Given the description of an element on the screen output the (x, y) to click on. 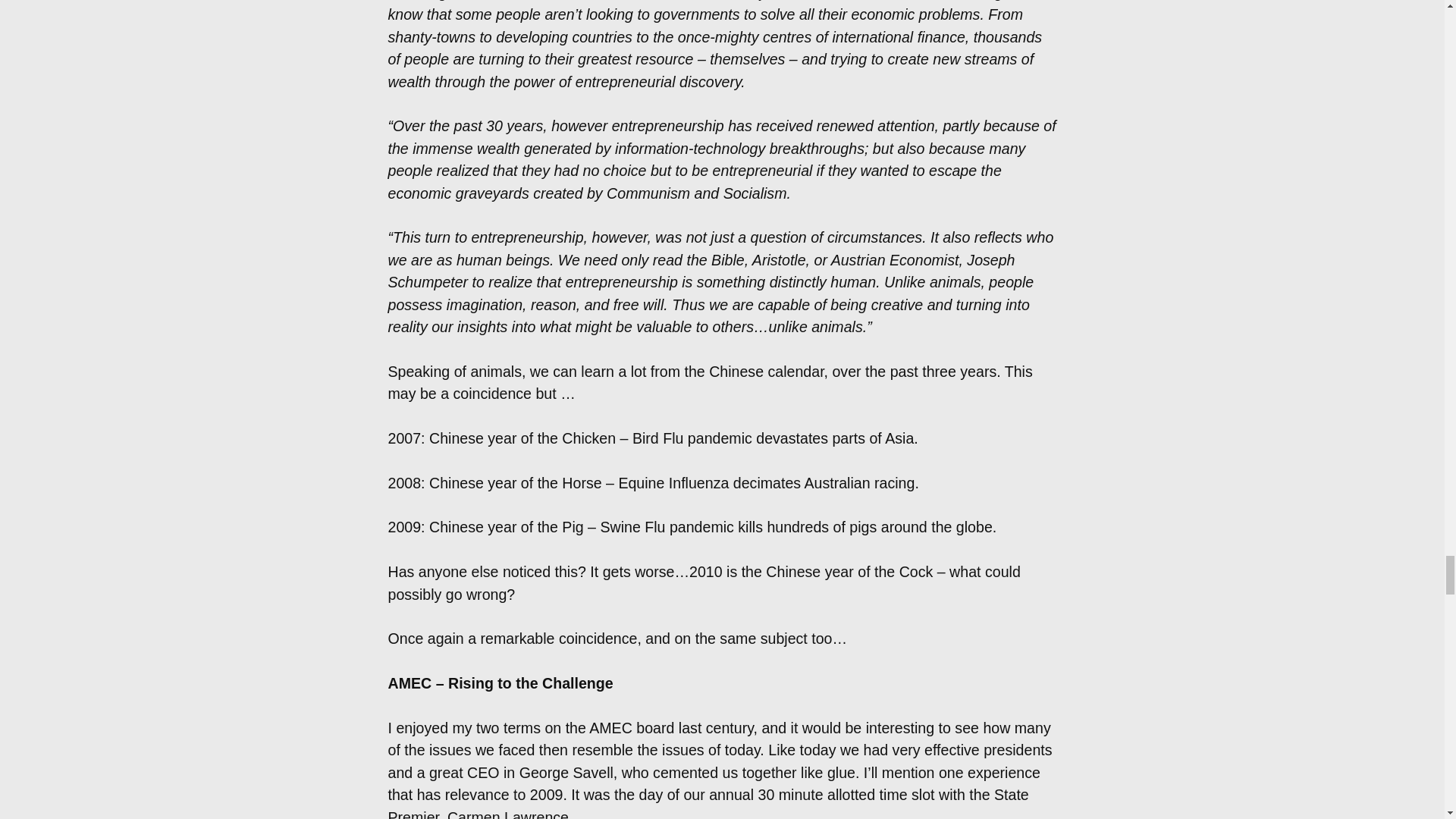
Page 14 (722, 723)
